Given the description of an element on the screen output the (x, y) to click on. 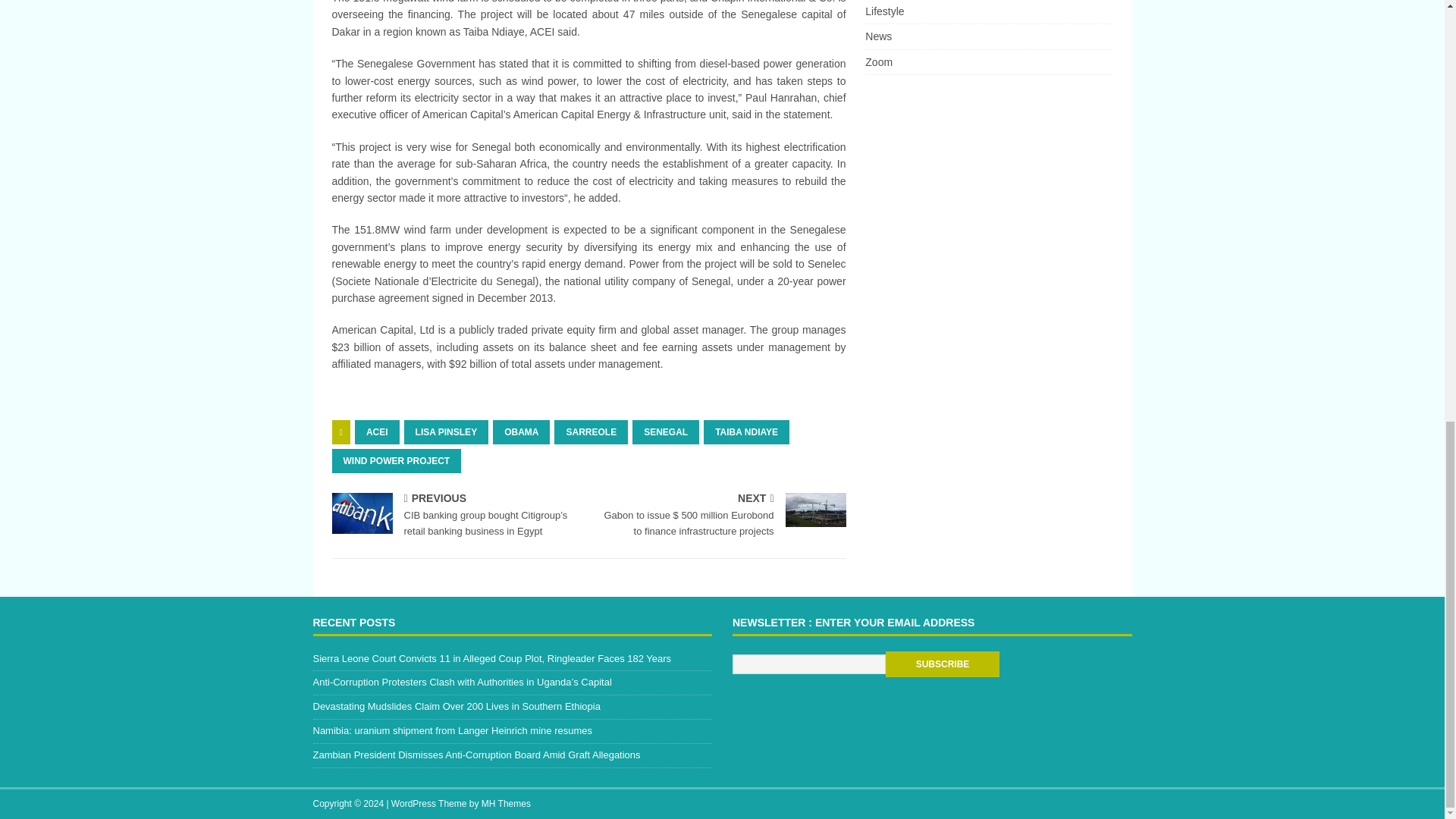
SARREOLE (590, 432)
SENEGAL (664, 432)
LISA PINSLEY (446, 432)
WIND POWER PROJECT (396, 460)
OBAMA (521, 432)
ACEI (376, 432)
Subscribe (941, 664)
TAIBA NDIAYE (746, 432)
